Given the description of an element on the screen output the (x, y) to click on. 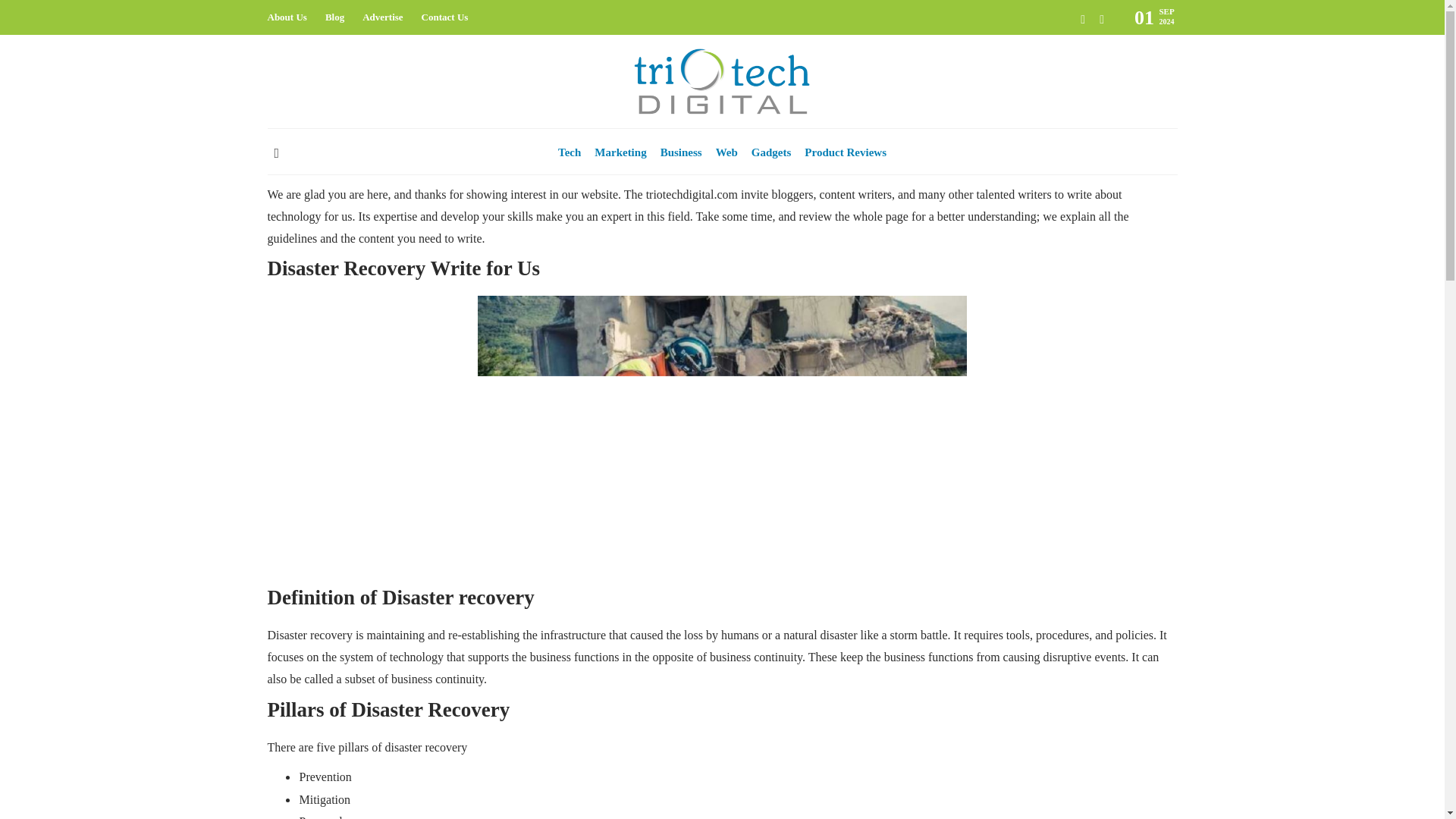
Business (681, 151)
Advertise (382, 17)
About Us (285, 17)
Marketing (620, 151)
Product Reviews (845, 151)
Contact Us (445, 17)
